Given the description of an element on the screen output the (x, y) to click on. 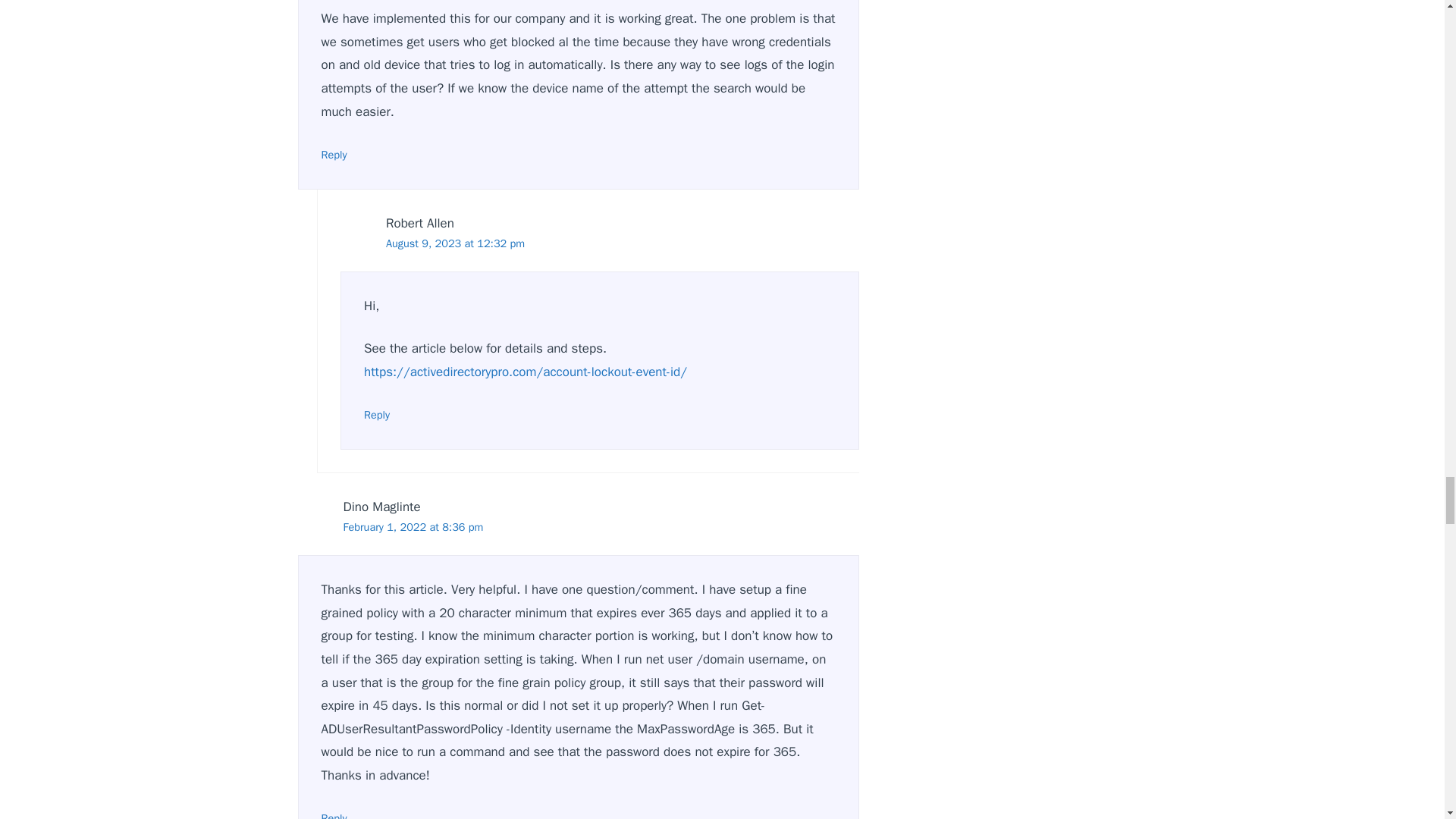
August 9, 2023 at 12:32 pm (454, 243)
February 1, 2022 at 8:36 pm (412, 526)
Reply (334, 154)
Reply (334, 815)
Reply (377, 414)
